Given the description of an element on the screen output the (x, y) to click on. 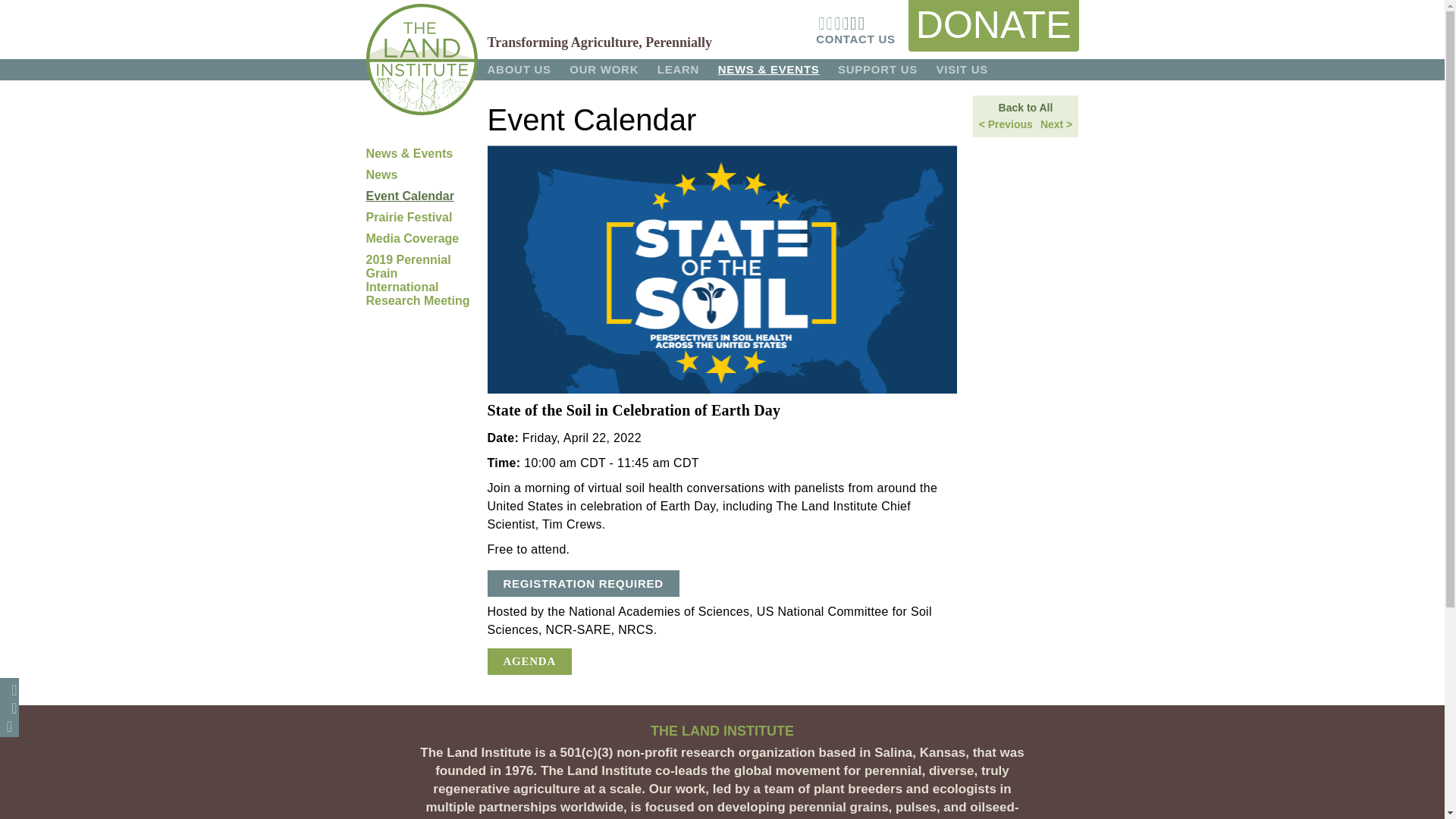
Tweet (9, 707)
Facebook (9, 689)
